Given the description of an element on the screen output the (x, y) to click on. 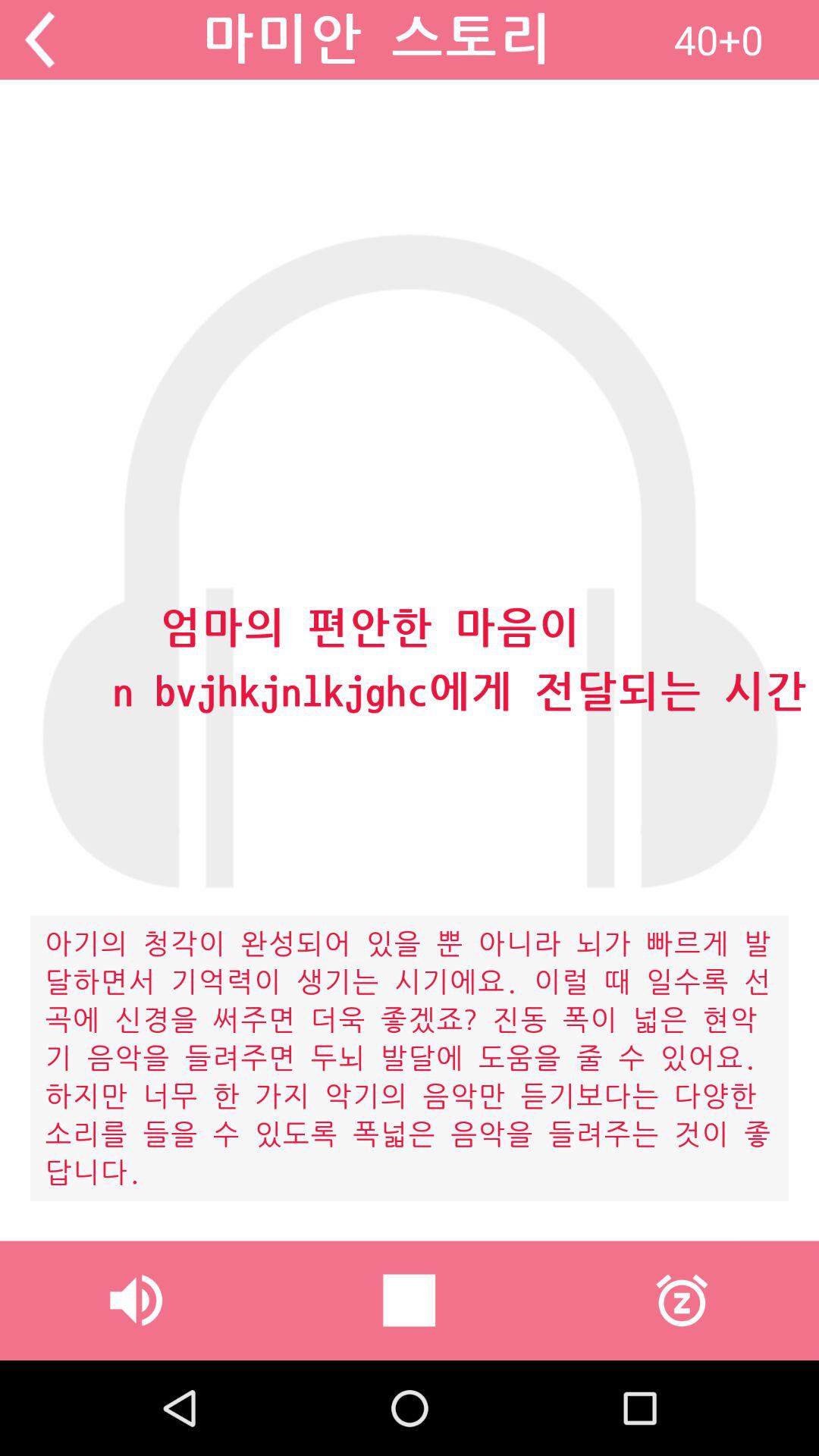
press icon at the bottom left corner (136, 1300)
